Given the description of an element on the screen output the (x, y) to click on. 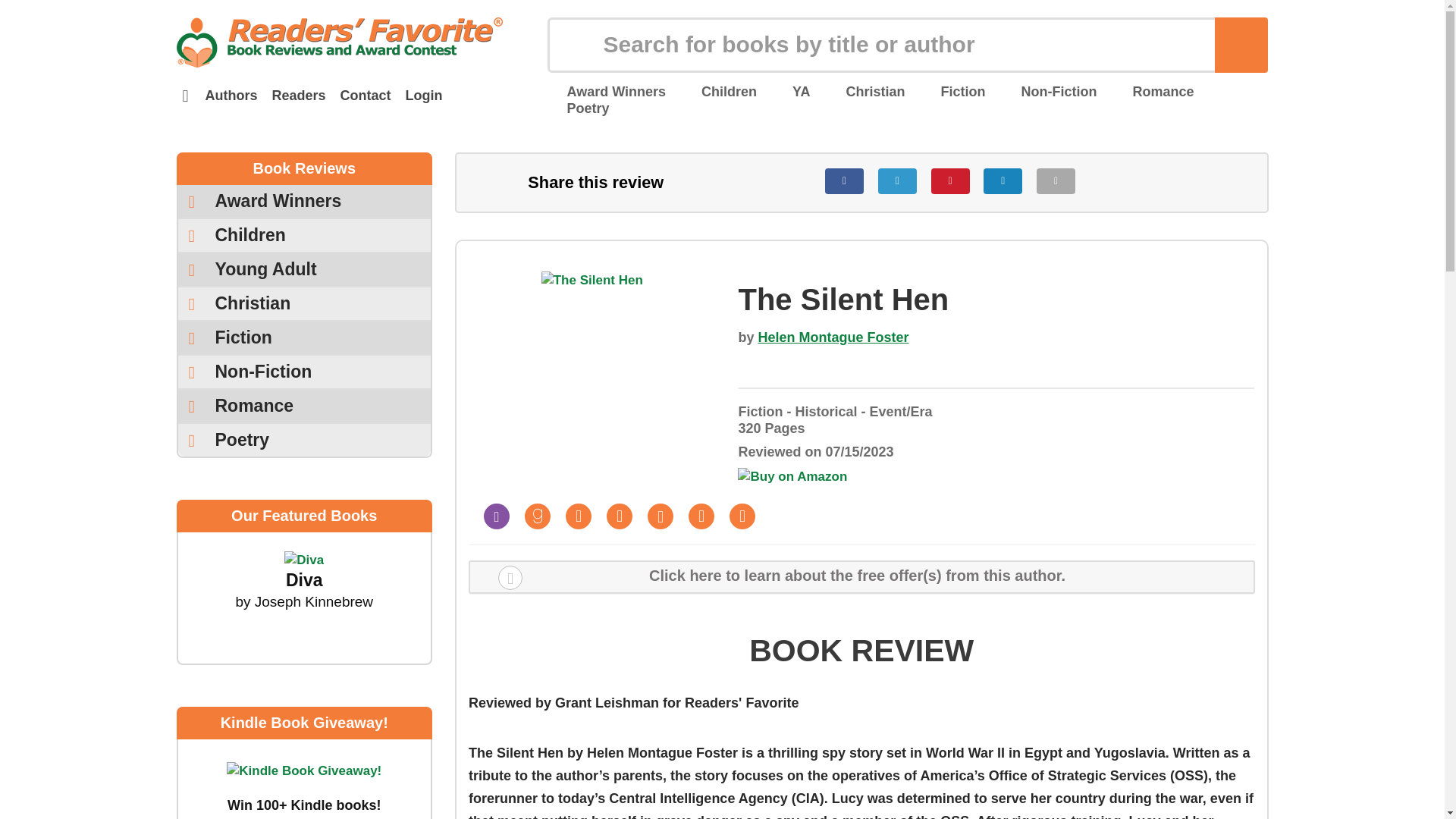
Readers' Favorite (339, 42)
Award Winners (606, 91)
Login (423, 96)
Christian (865, 91)
YA (791, 91)
Fiction (953, 91)
Romance (1153, 91)
Authors (230, 96)
Children (719, 91)
Readers (297, 96)
